Given the description of an element on the screen output the (x, y) to click on. 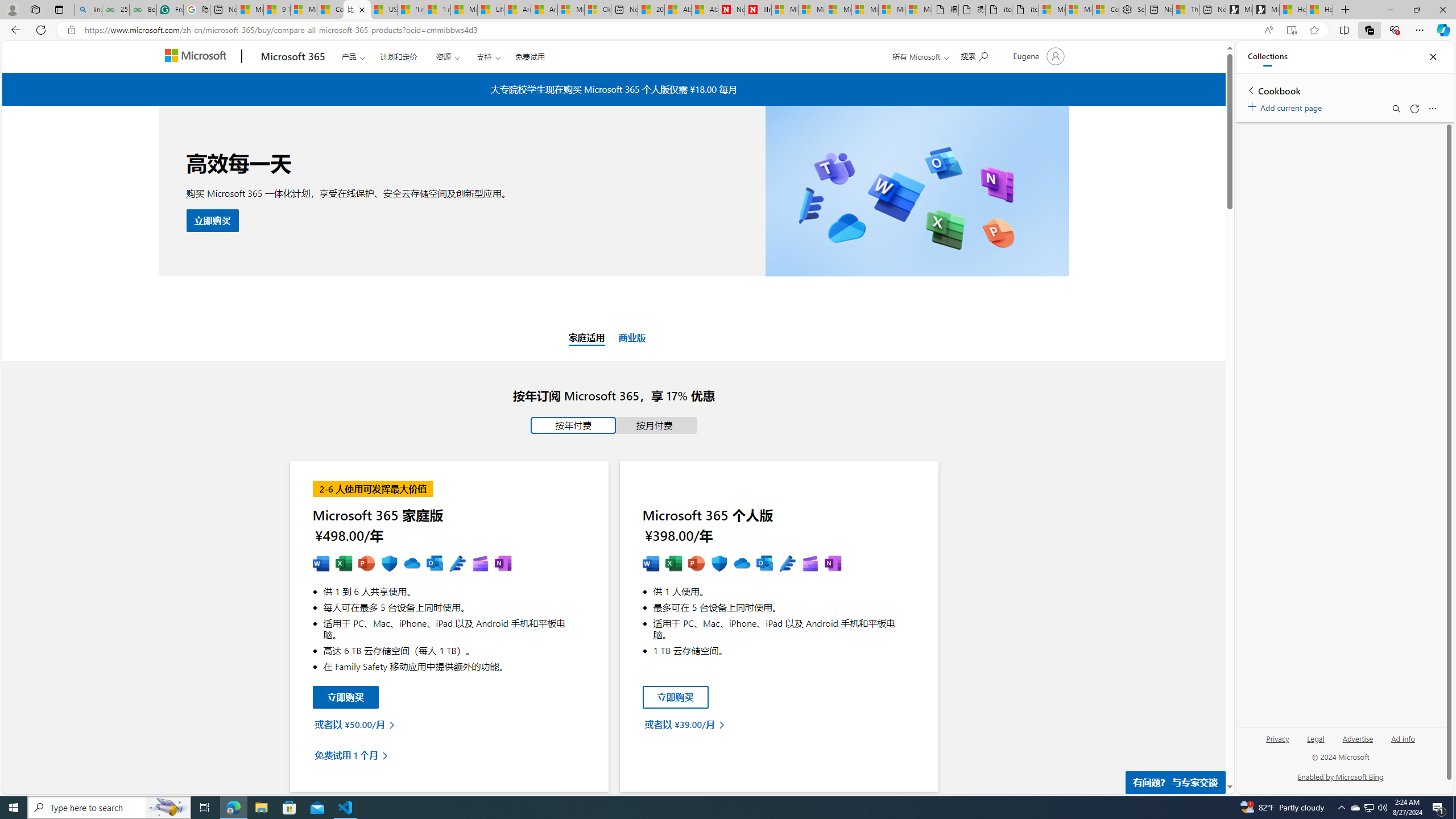
More options menu (1432, 108)
MS Word (650, 563)
linux basic - Search (87, 9)
Cloud Computing Services | Microsoft Azure (597, 9)
MS Defender  (719, 563)
